Given the description of an element on the screen output the (x, y) to click on. 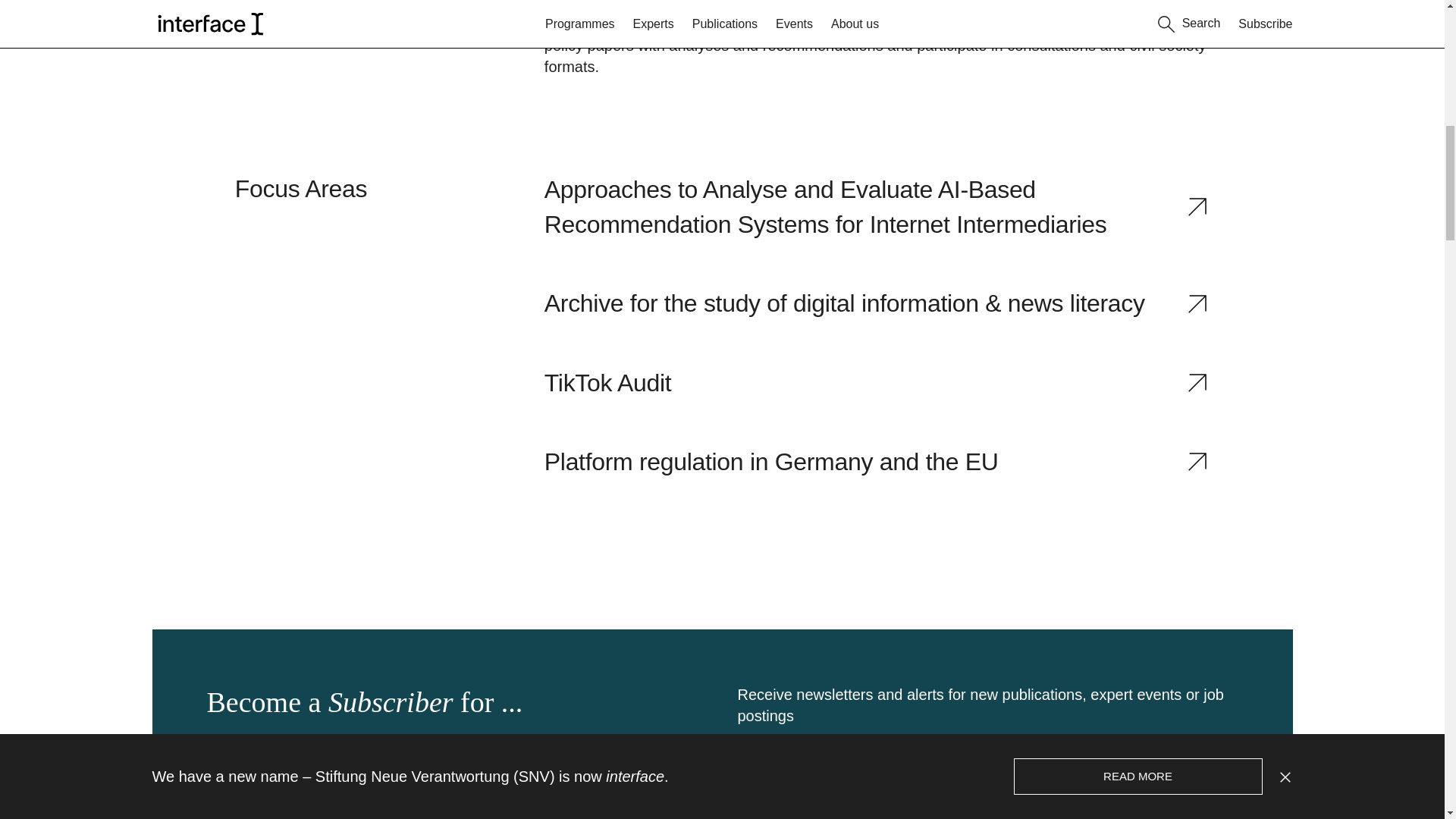
TikTok Audit (876, 382)
Platform regulation in Germany and the EU (876, 461)
